Given the description of an element on the screen output the (x, y) to click on. 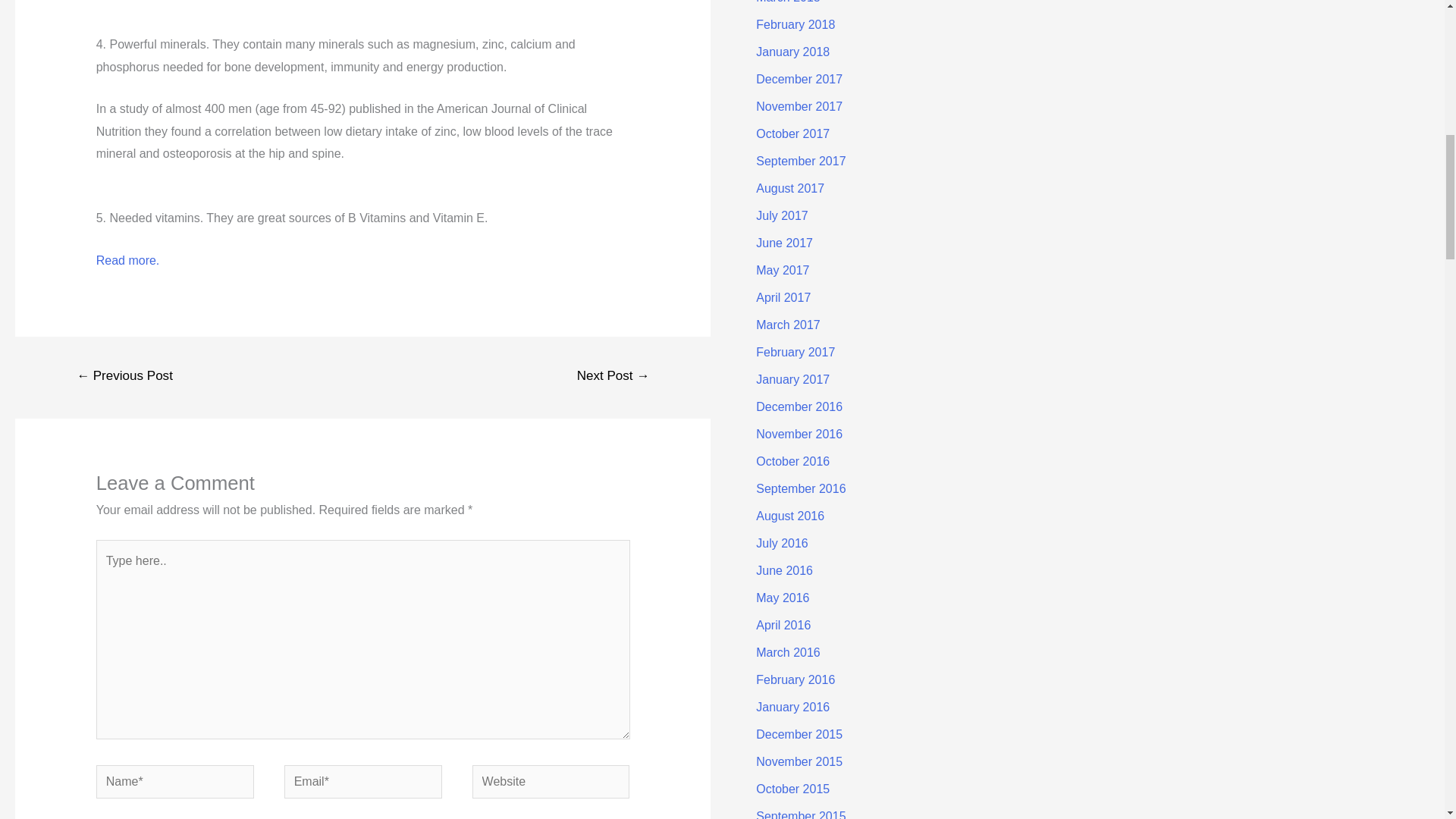
Read more. (128, 259)
